Given the description of an element on the screen output the (x, y) to click on. 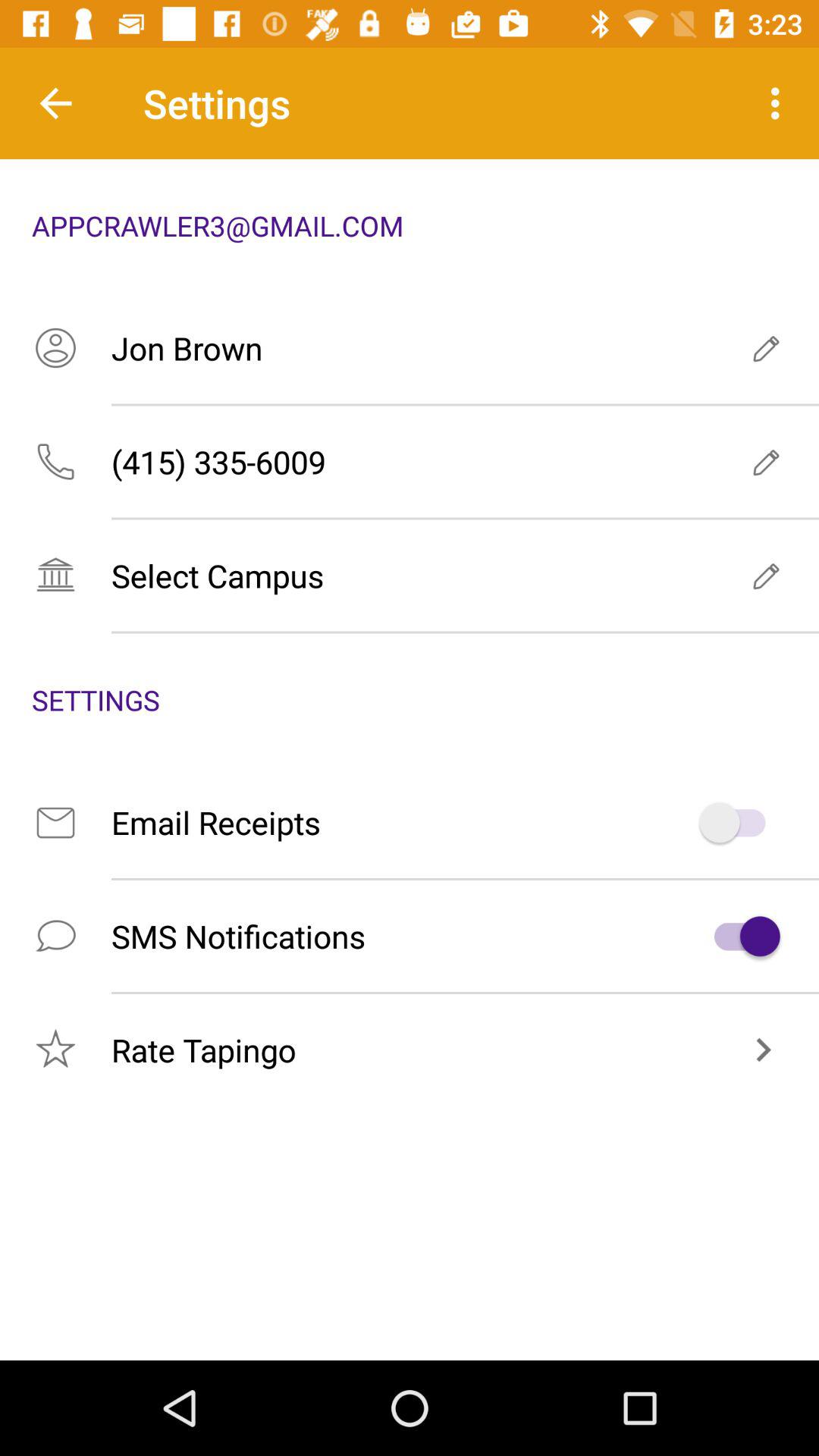
click the icon at the top right corner (779, 103)
